Given the description of an element on the screen output the (x, y) to click on. 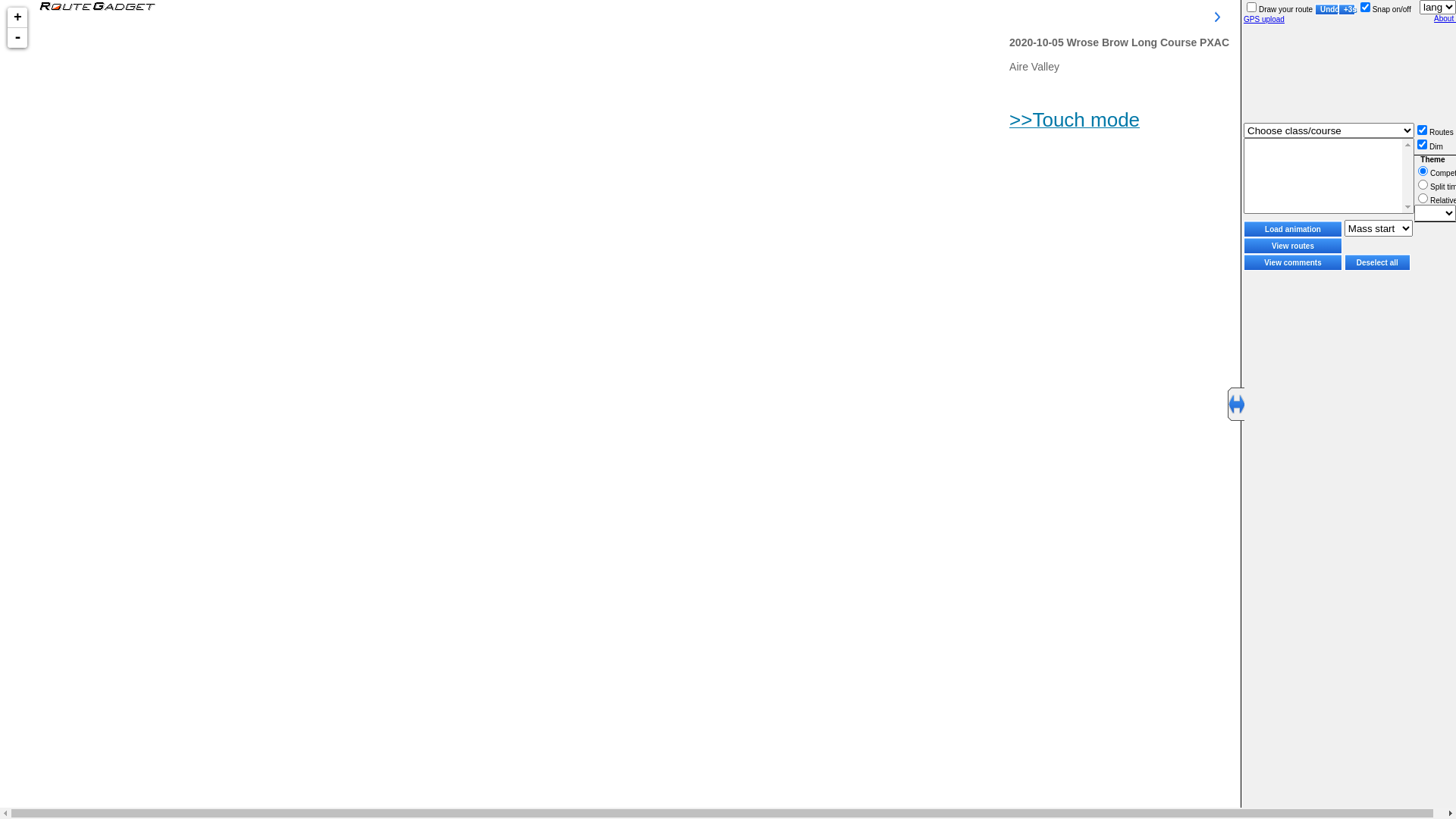
on Element type: text (1422, 129)
Deselect all Element type: text (1377, 262)
Undo Element type: text (1326, 9)
on Element type: text (1251, 7)
on Element type: text (1422, 170)
+3s Element type: text (1346, 9)
>>Touch mode Element type: text (1074, 123)
on Element type: text (1422, 198)
View routes Element type: text (1292, 245)
Load animation Element type: text (1292, 228)
+ Element type: text (17, 17)
on Element type: text (1422, 184)
GPS upload Element type: text (1263, 19)
- Element type: text (17, 37)
View comments Element type: text (1292, 262)
on Element type: text (1422, 144)
Back to the event list Element type: hover (95, 6)
